Given the description of an element on the screen output the (x, y) to click on. 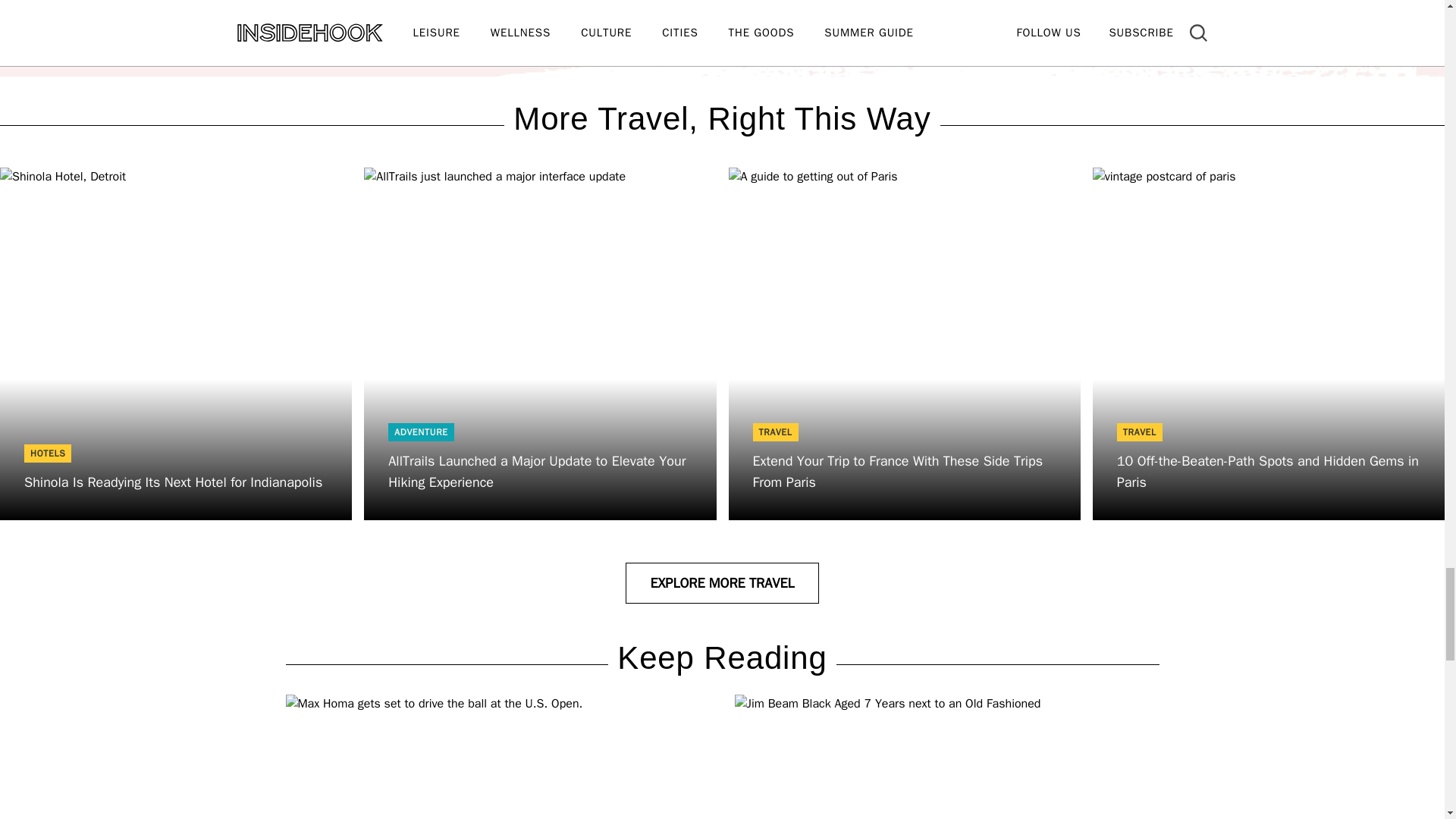
on (394, 33)
